Given the description of an element on the screen output the (x, y) to click on. 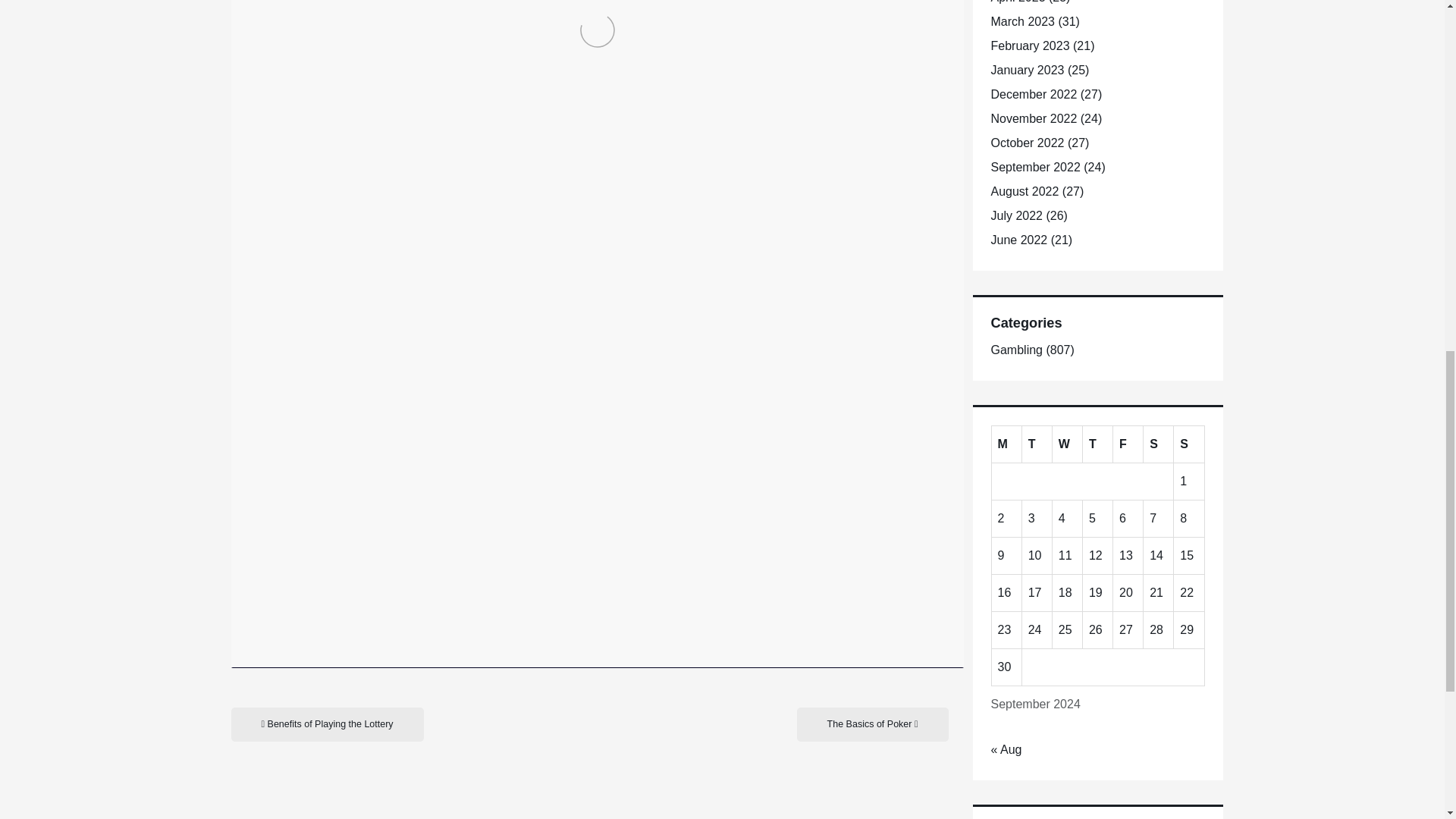
August 2022 (1024, 191)
Gambling (1016, 349)
September 2022 (1035, 166)
April 2023 (1017, 2)
February 2023 (1029, 45)
January 2023 (1027, 69)
July 2022 (1016, 215)
October 2022 (1027, 142)
November 2022 (1033, 118)
June 2022 (1018, 239)
